Given the description of an element on the screen output the (x, y) to click on. 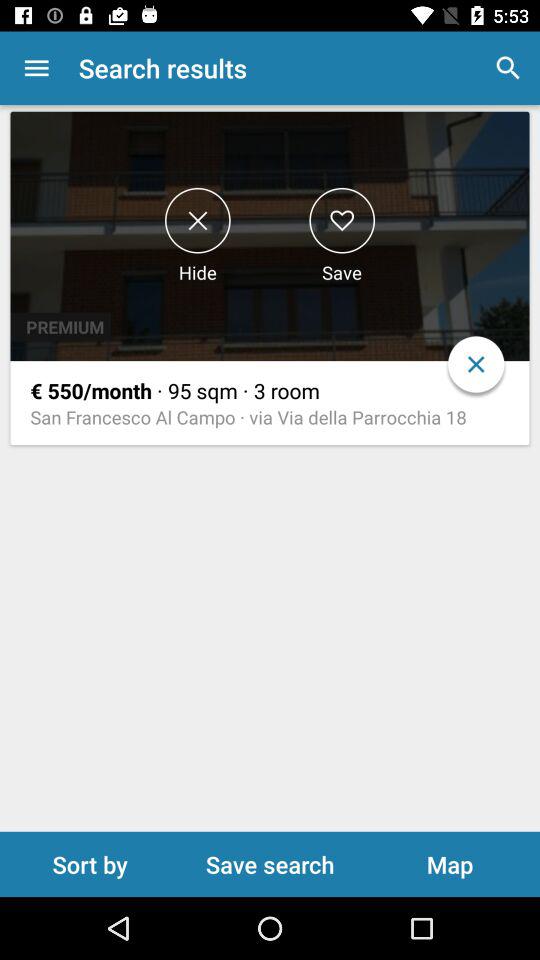
close option for hide the result (197, 220)
